Given the description of an element on the screen output the (x, y) to click on. 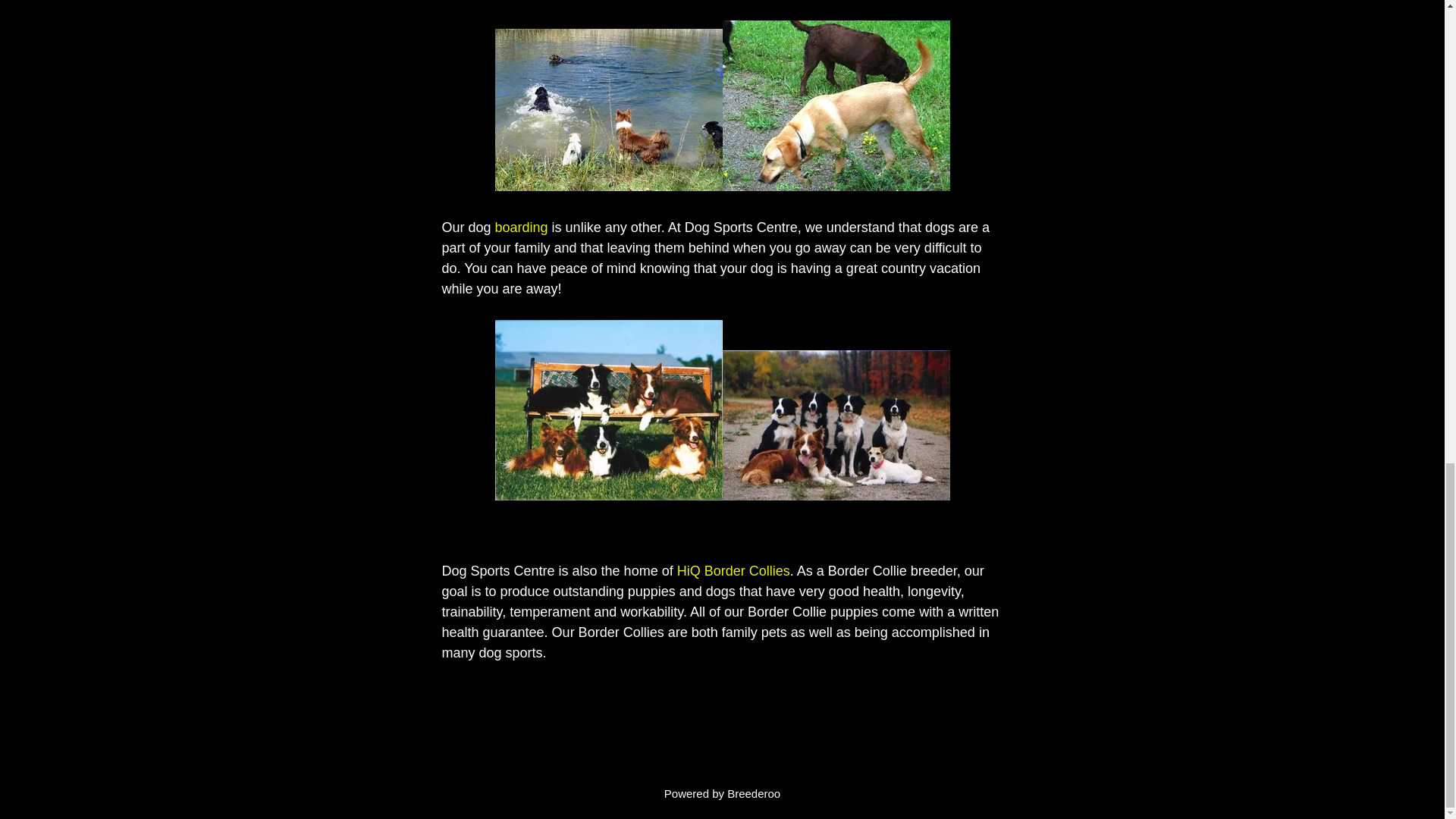
HiQ Border Collies (733, 570)
Powered by Breederoo (721, 793)
boarding (521, 227)
Powered by Breederoo (721, 793)
